Given the description of an element on the screen output the (x, y) to click on. 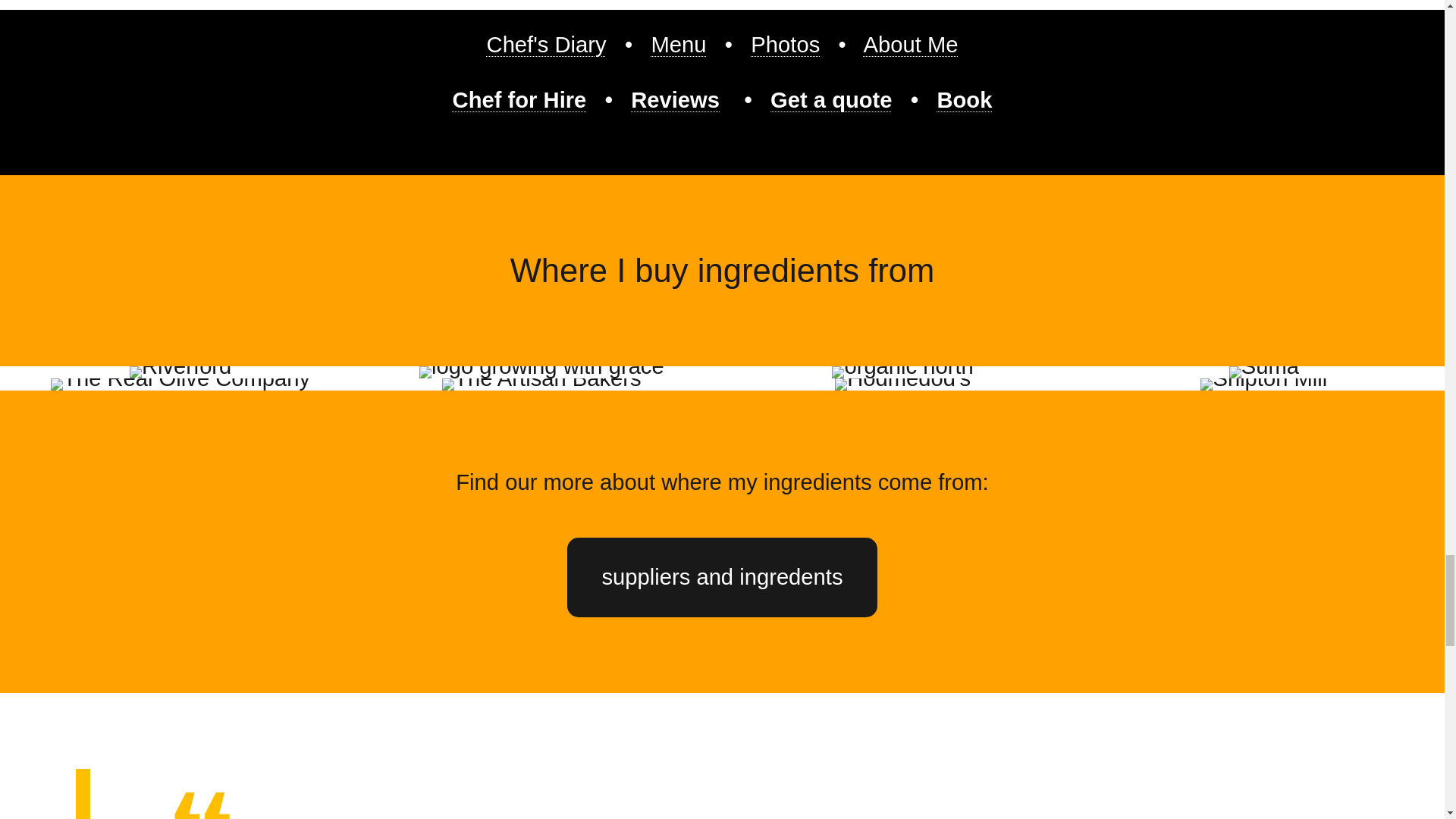
logo real olive company (180, 384)
logo organic north (901, 372)
Photos (785, 44)
logo shipton mill (1262, 384)
logo growing with grace (541, 372)
logo suma (1263, 372)
logo artisan bakers (542, 384)
Chef's Diary (546, 44)
logo riverford (180, 372)
Menu (678, 44)
